Given the description of an element on the screen output the (x, y) to click on. 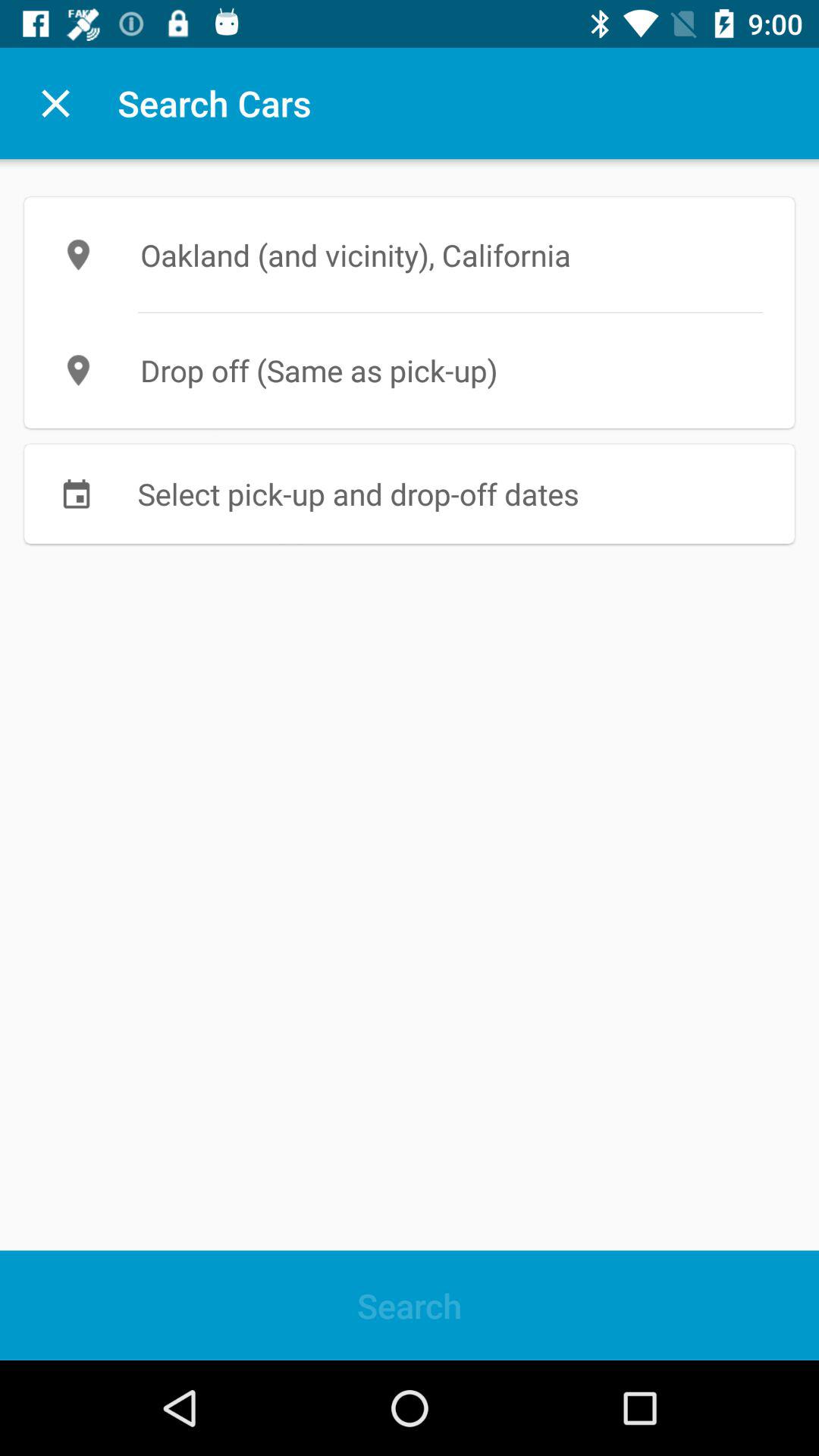
tap icon to the left of the search cars icon (55, 103)
